Given the description of an element on the screen output the (x, y) to click on. 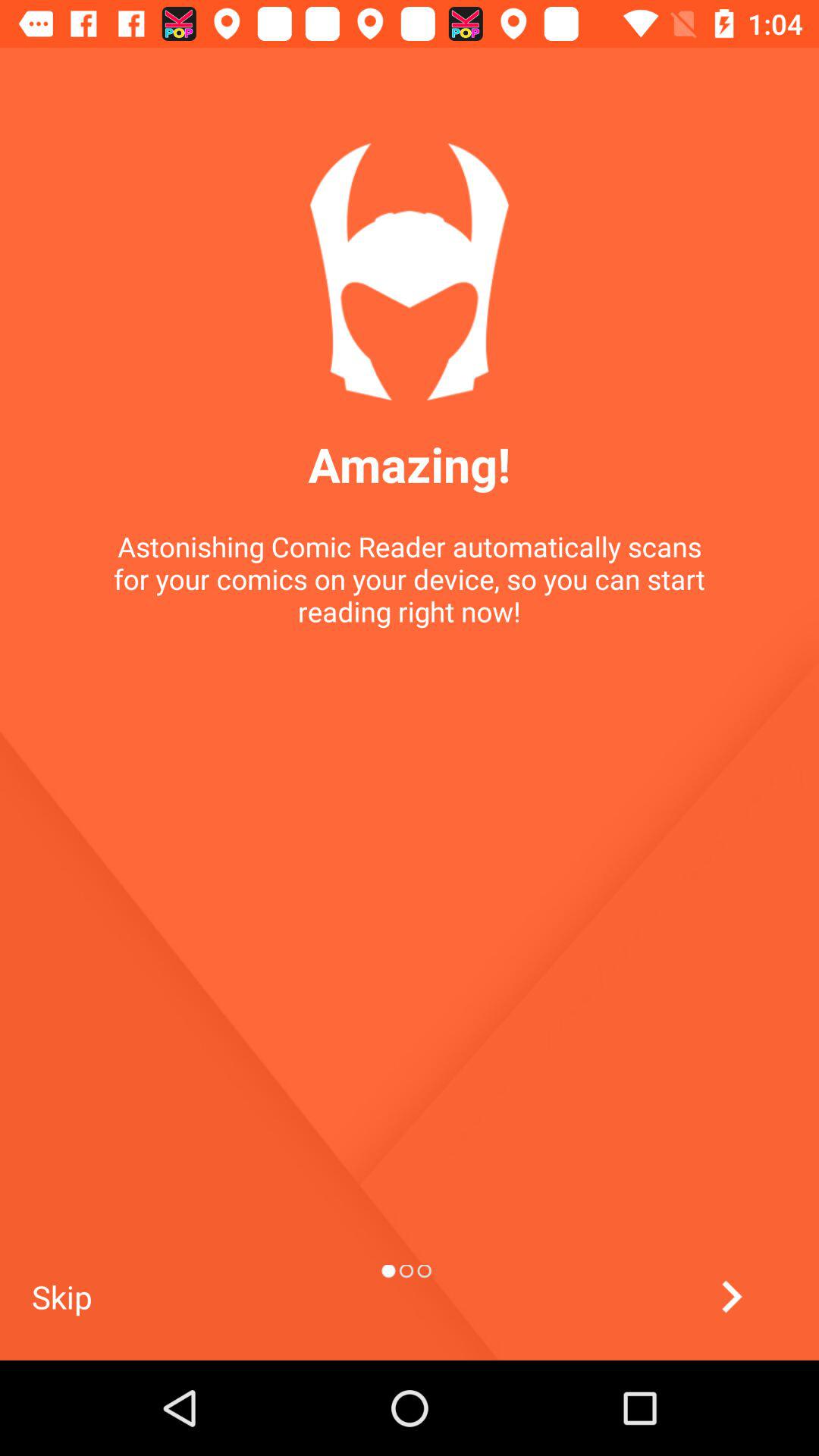
go next (731, 1296)
